Given the description of an element on the screen output the (x, y) to click on. 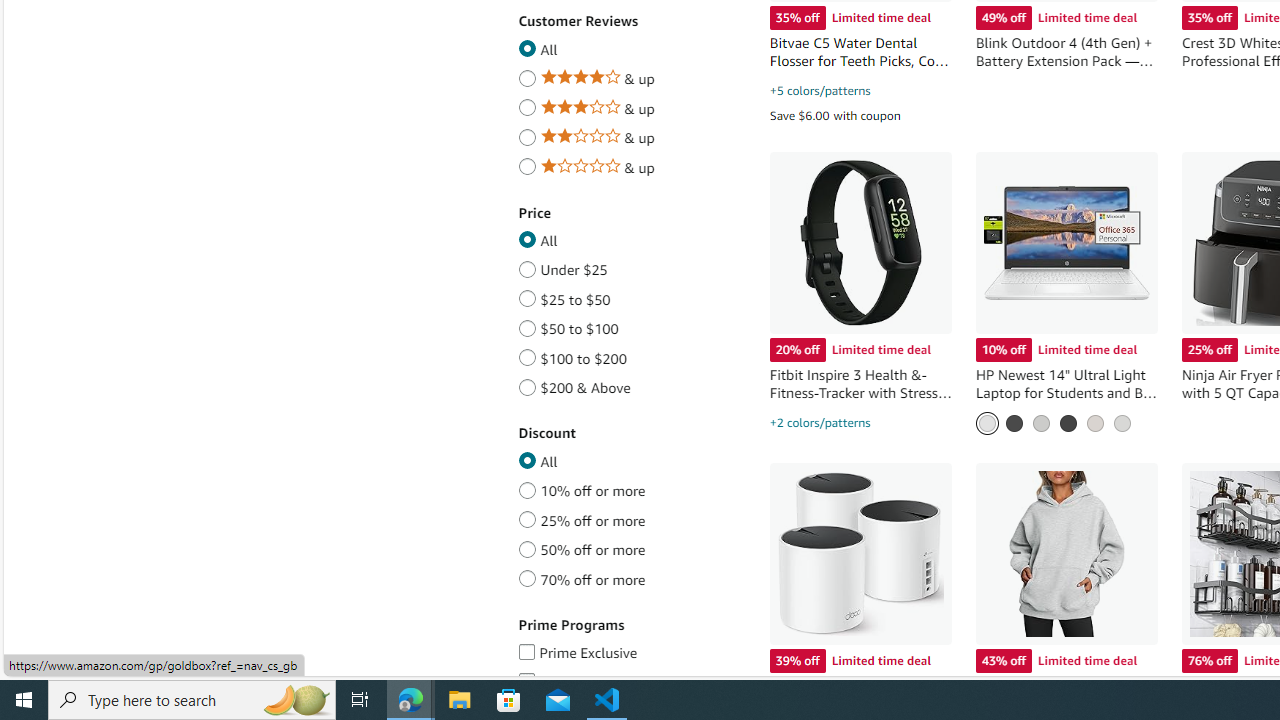
$50 to $100 (527, 325)
10% off or more (527, 487)
Average review star rating of 1 and up (527, 163)
Prime Early Access (526, 677)
Prime Exclusive (526, 648)
Snowflake White (986, 422)
Average review star rating of 3 and up (527, 104)
Gold (1094, 422)
Average review star rating of 2 and up (527, 134)
70% off or more (527, 575)
Under $25 (527, 266)
+5 colors/patterns (819, 90)
